Given the description of an element on the screen output the (x, y) to click on. 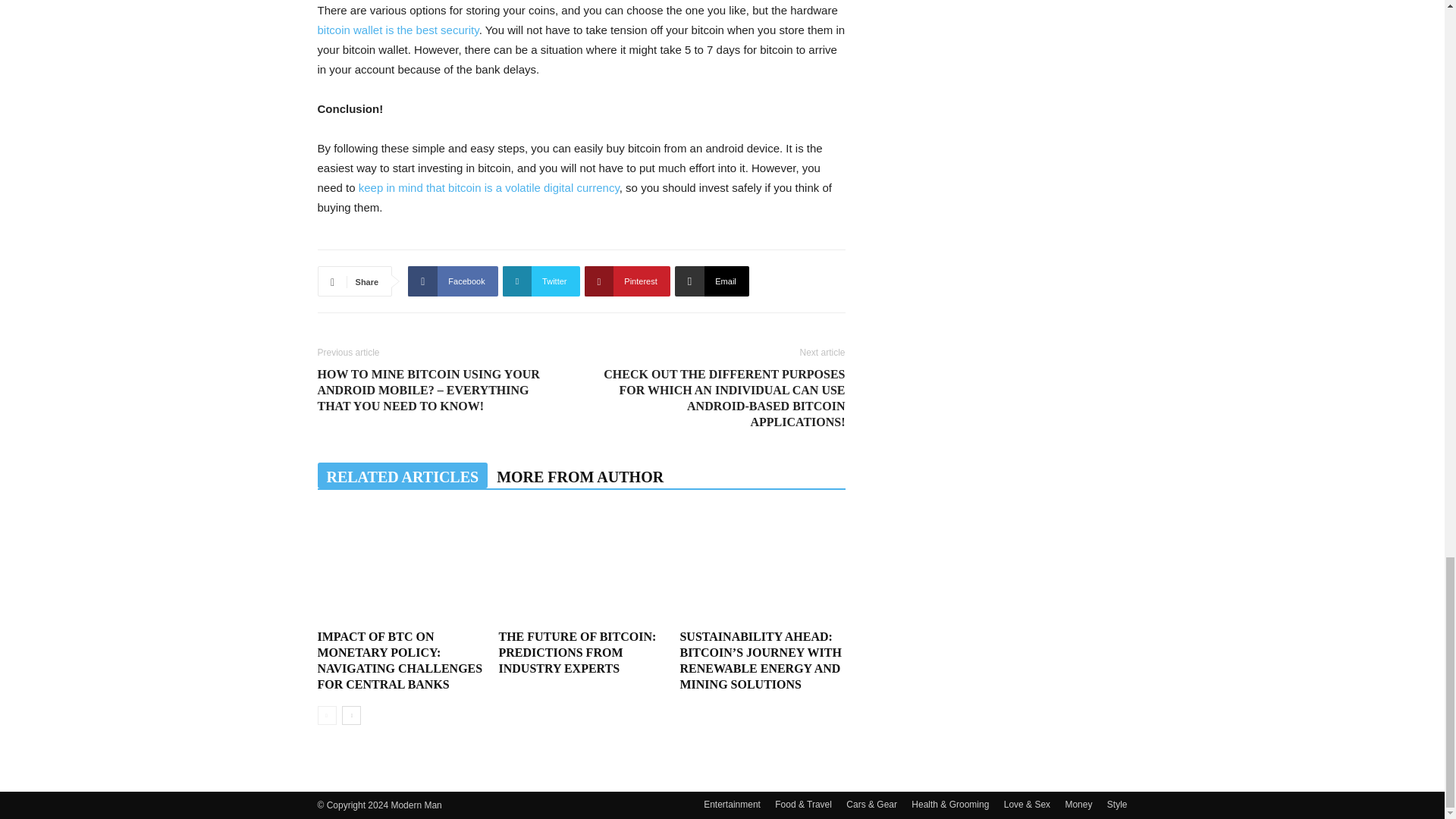
The Future of Bitcoin: Predictions from Industry Experts (580, 567)
The Future of Bitcoin: Predictions from Industry Experts (576, 651)
